Given the description of an element on the screen output the (x, y) to click on. 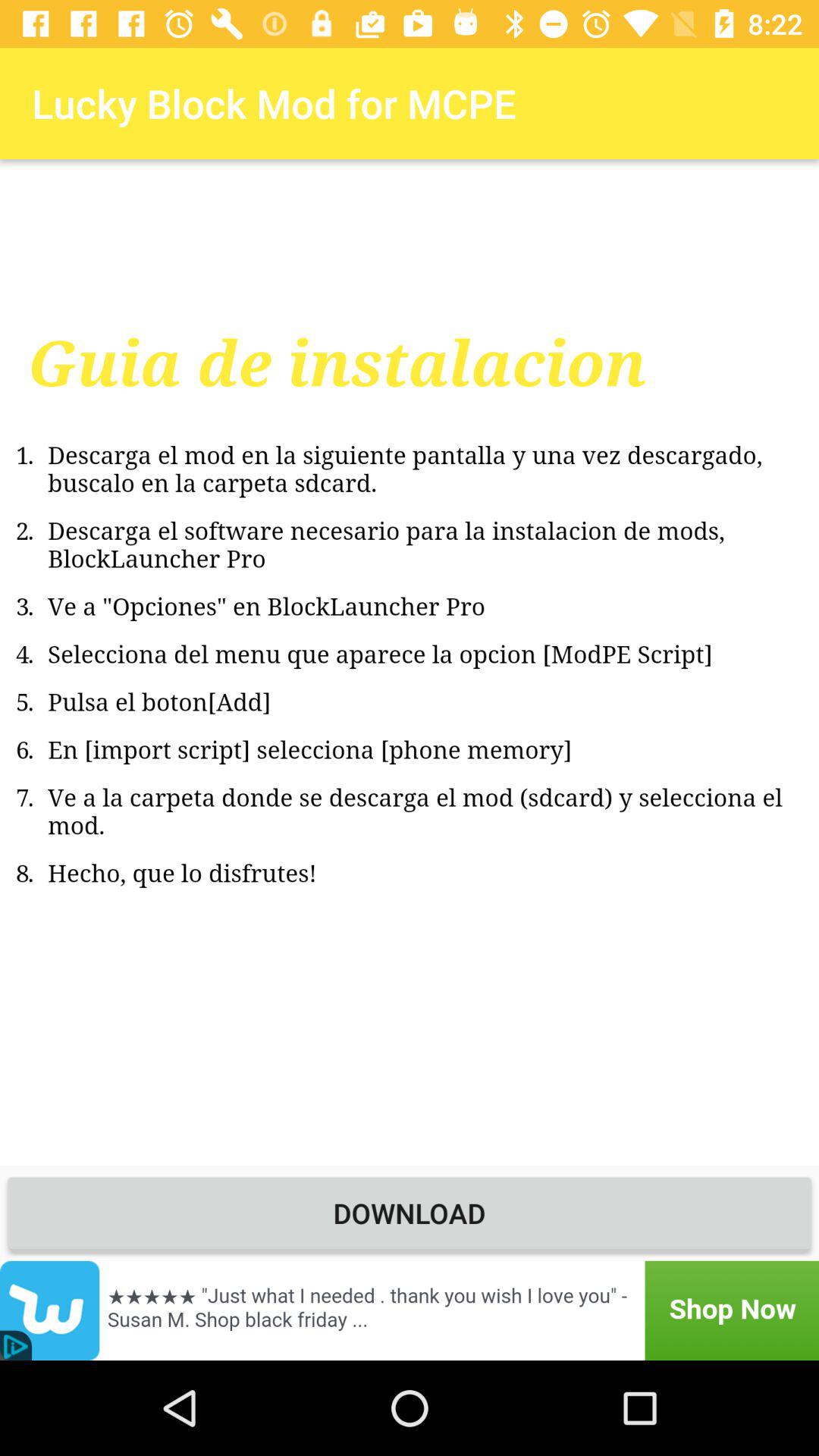
advertising bar (409, 1310)
